Given the description of an element on the screen output the (x, y) to click on. 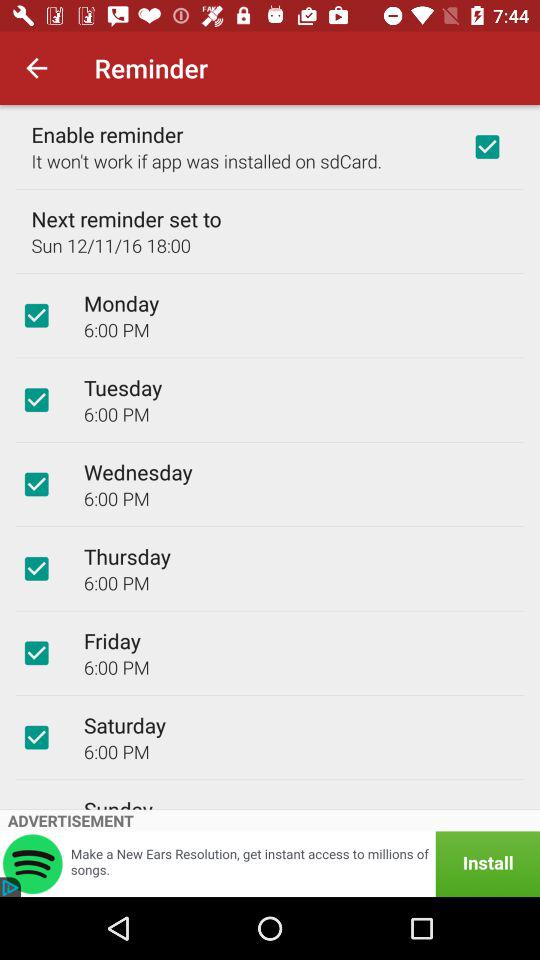
unclick the tick (36, 653)
